Given the description of an element on the screen output the (x, y) to click on. 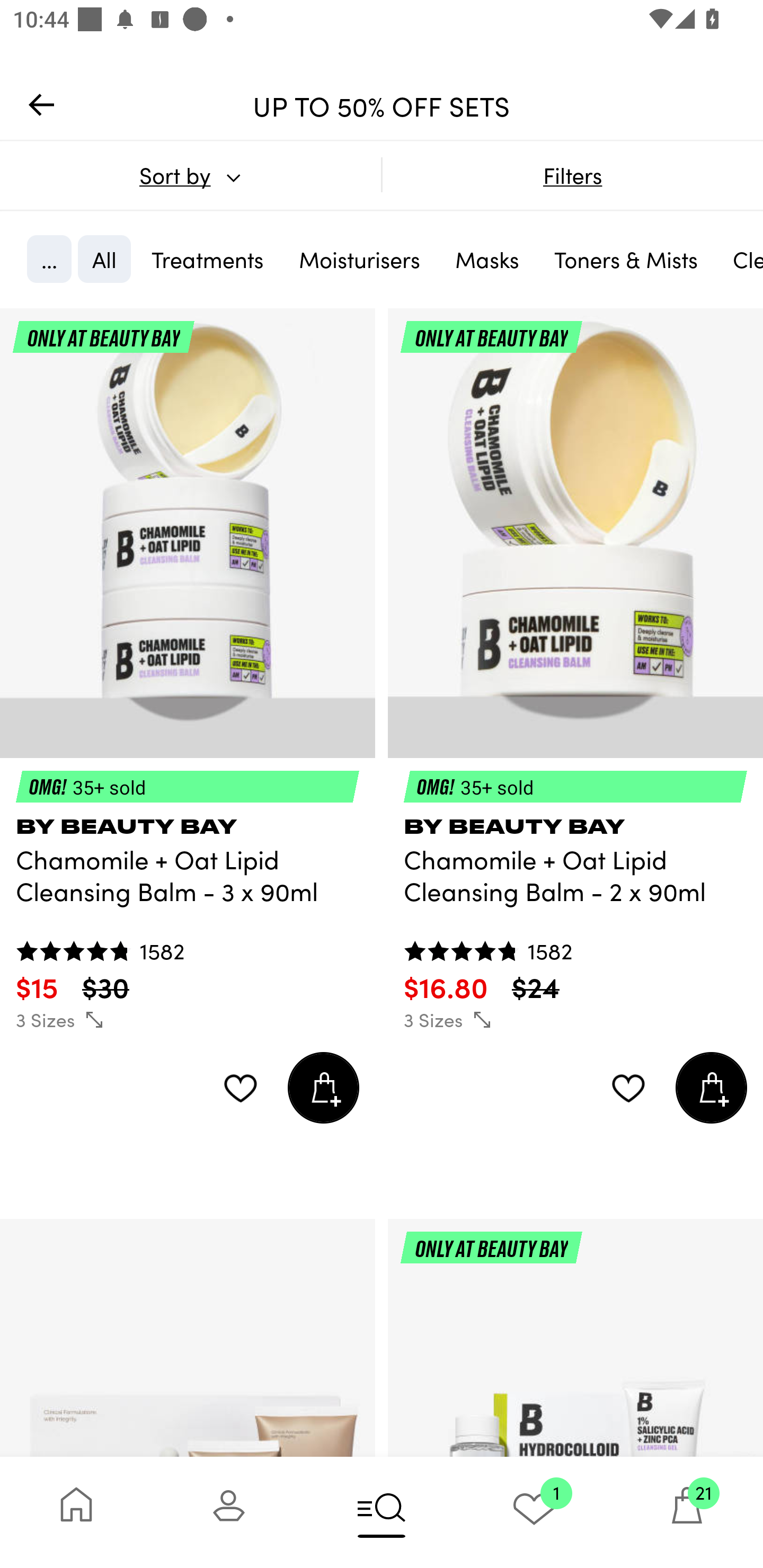
Sort by (190, 174)
Filters (572, 174)
... (48, 258)
All (104, 258)
Treatments (207, 258)
Moisturisers (359, 258)
Masks (487, 258)
Toners & Mists (625, 258)
1 (533, 1512)
21 (686, 1512)
